Given the description of an element on the screen output the (x, y) to click on. 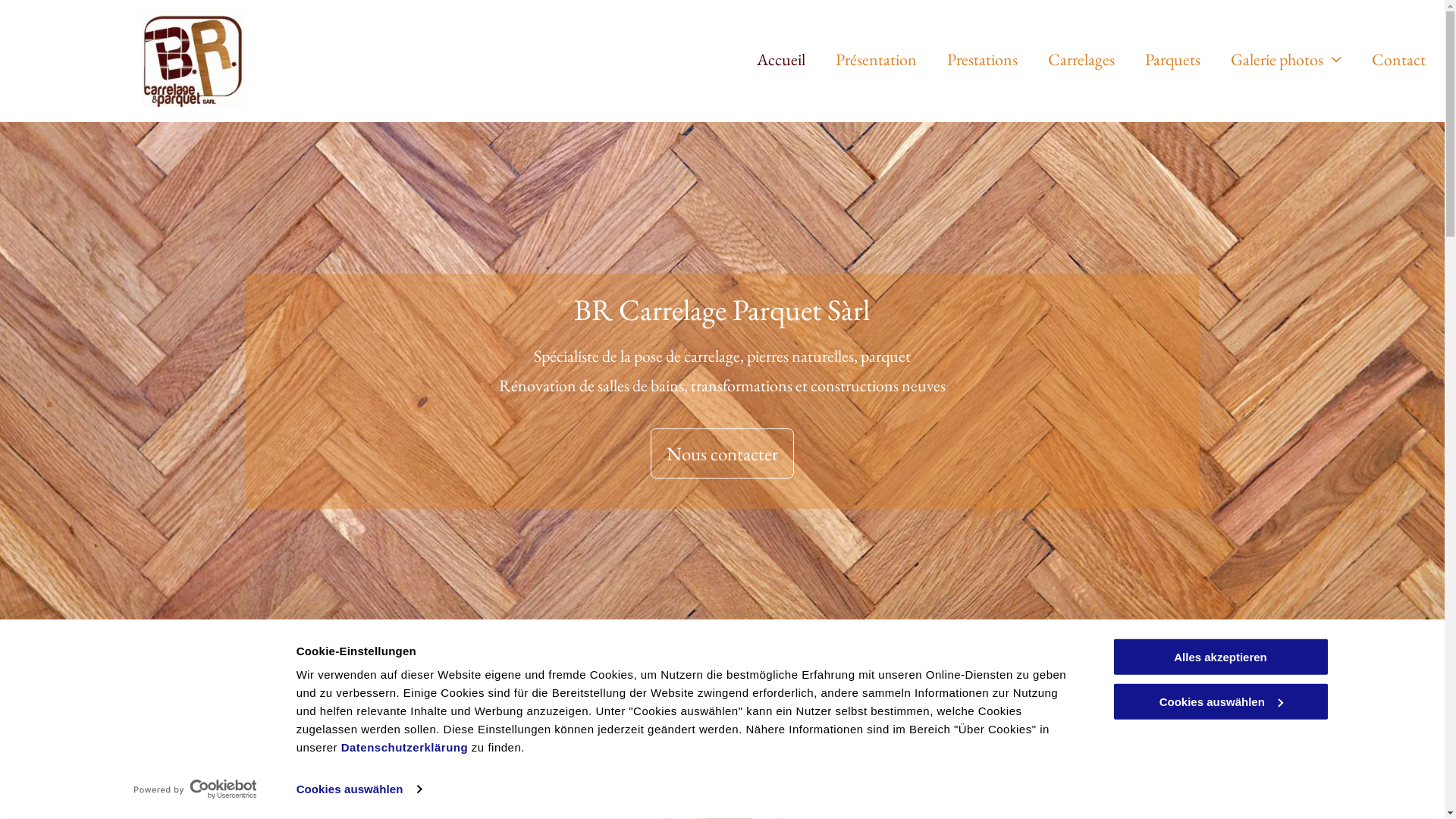
Accueil Element type: text (765, 59)
Contact Element type: text (1383, 59)
Alles akzeptieren Element type: text (1219, 656)
Parquets Element type: text (1157, 59)
Galerie photos Element type: text (1270, 59)
Prestations Element type: text (966, 59)
Carrelages Element type: text (1065, 59)
Nous contacter Element type: text (721, 453)
